Given the description of an element on the screen output the (x, y) to click on. 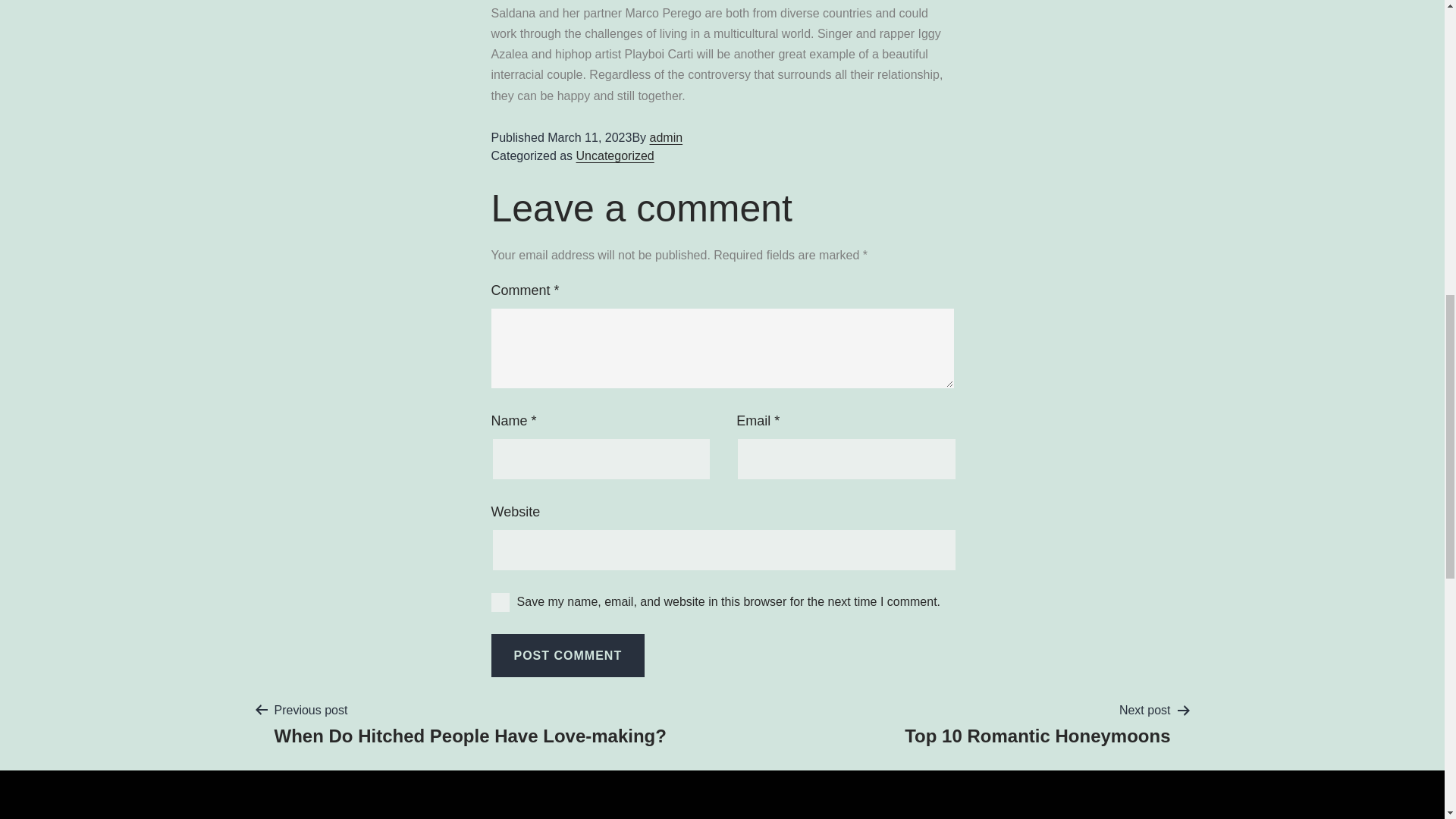
Post Comment (568, 655)
admin (665, 137)
Uncategorized (614, 155)
yes (500, 601)
